Given the description of an element on the screen output the (x, y) to click on. 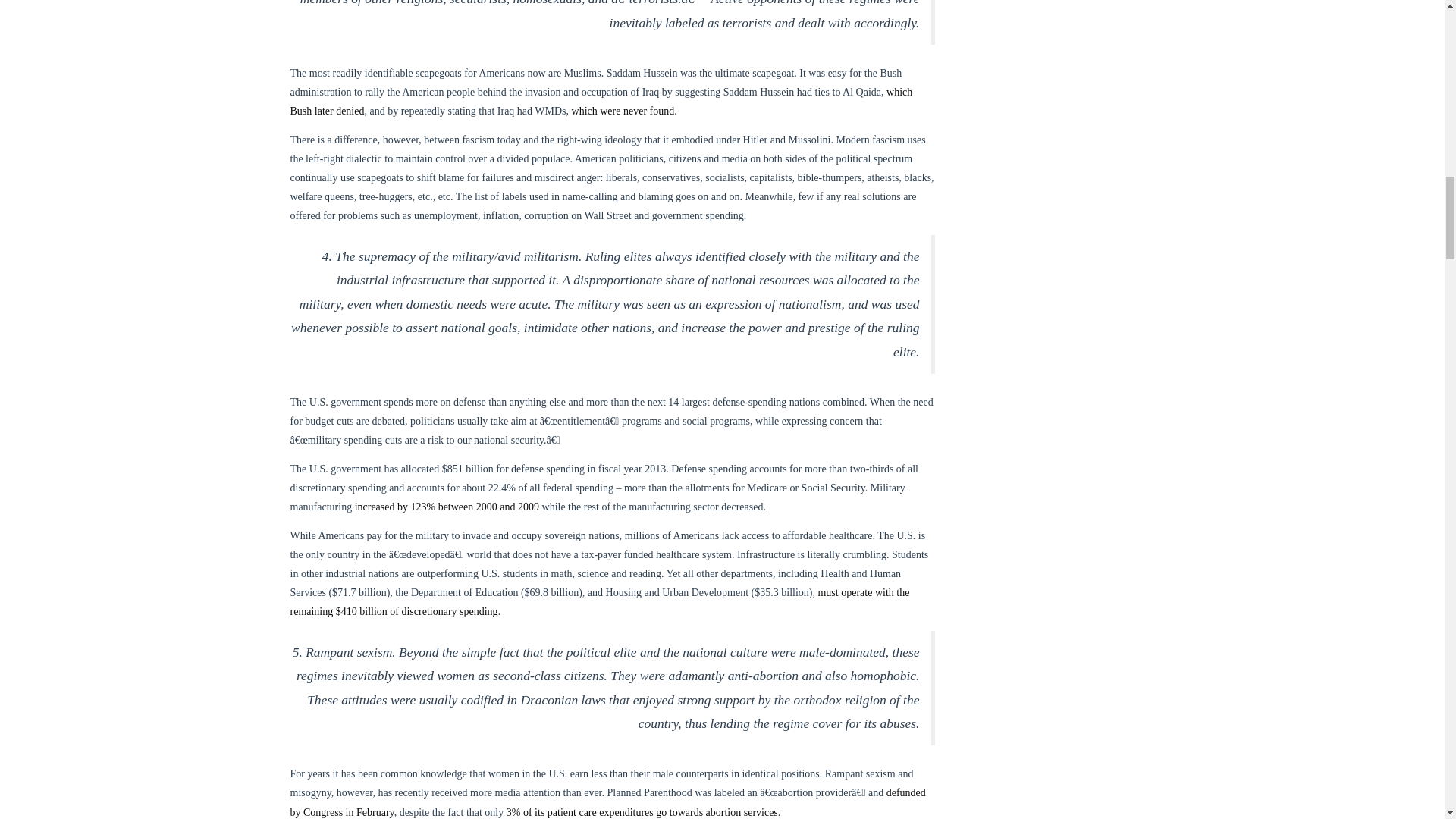
which Bush later denied (600, 101)
which were never found (623, 111)
defunded by Congress in February (606, 802)
